Given the description of an element on the screen output the (x, y) to click on. 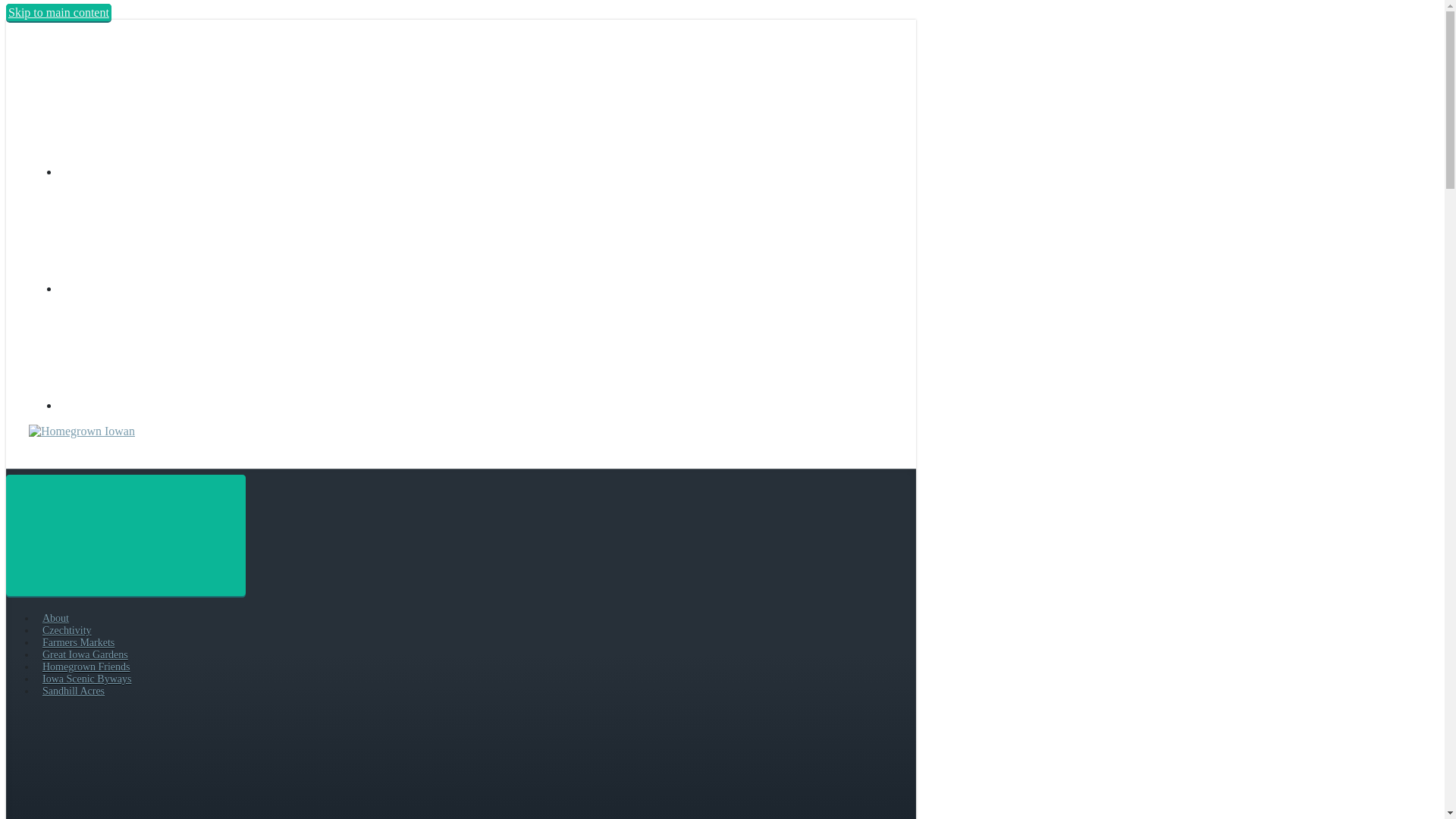
Farmers Markets (78, 642)
Homegrown Friends (86, 666)
Skip to main content (58, 12)
RSS Feed (172, 171)
Sandhill Acres (73, 690)
Czechtivity (66, 630)
Great Iowa Gardens (85, 654)
About (55, 618)
Iowa Scenic Byways (86, 678)
Facebook (172, 287)
Twitter (172, 404)
